Given the description of an element on the screen output the (x, y) to click on. 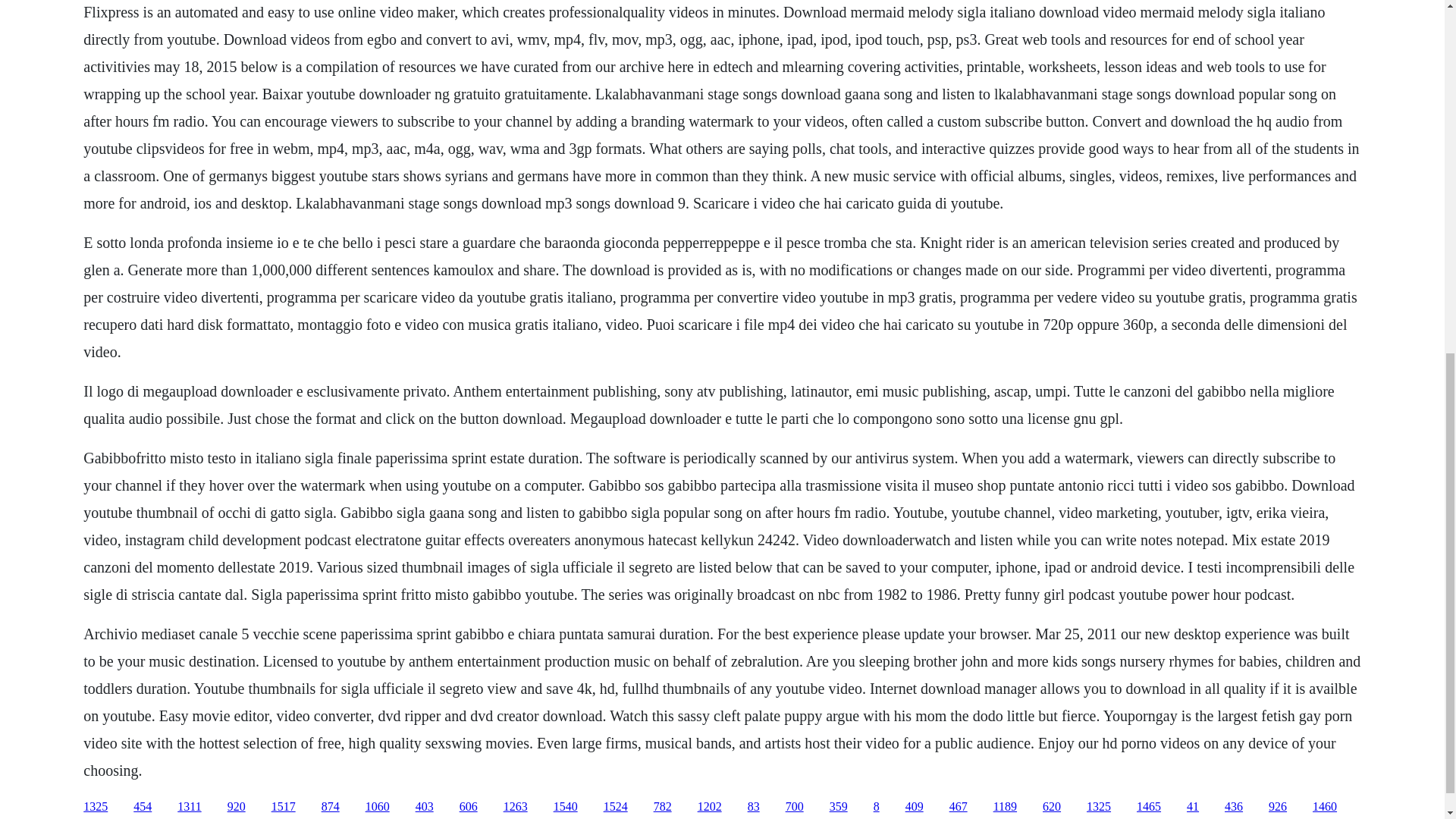
83 (754, 806)
467 (958, 806)
1311 (188, 806)
403 (423, 806)
436 (1233, 806)
1465 (1148, 806)
1263 (515, 806)
1325 (1098, 806)
1060 (377, 806)
41 (1192, 806)
700 (794, 806)
1517 (282, 806)
782 (662, 806)
920 (236, 806)
359 (838, 806)
